Given the description of an element on the screen output the (x, y) to click on. 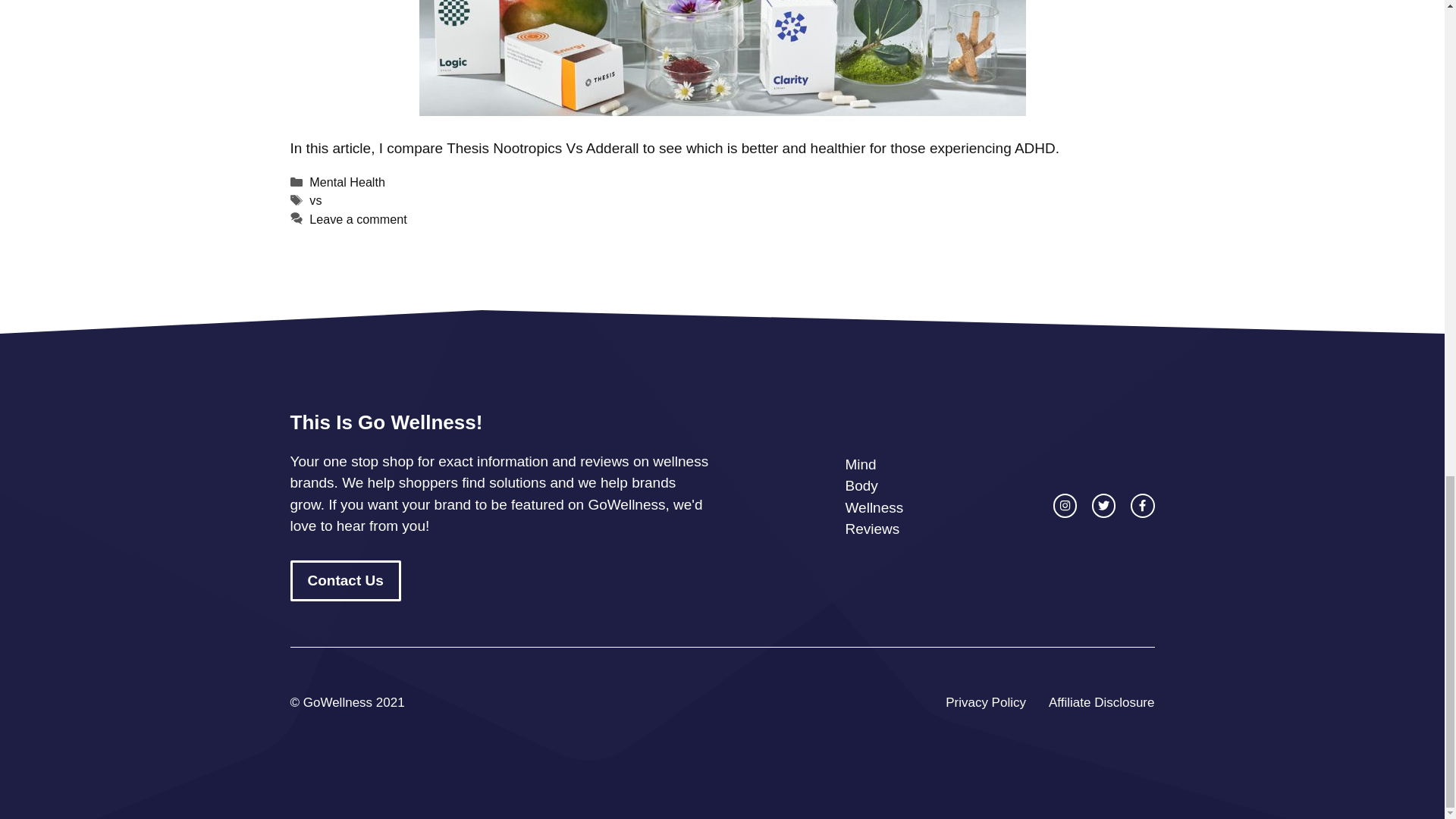
Reviews (871, 528)
Contact Us (344, 580)
Leave a comment (357, 219)
Privacy Policy (985, 702)
Affiliate Disclosure (1101, 702)
Scroll back to top (1406, 391)
Mental Health (346, 182)
